Given the description of an element on the screen output the (x, y) to click on. 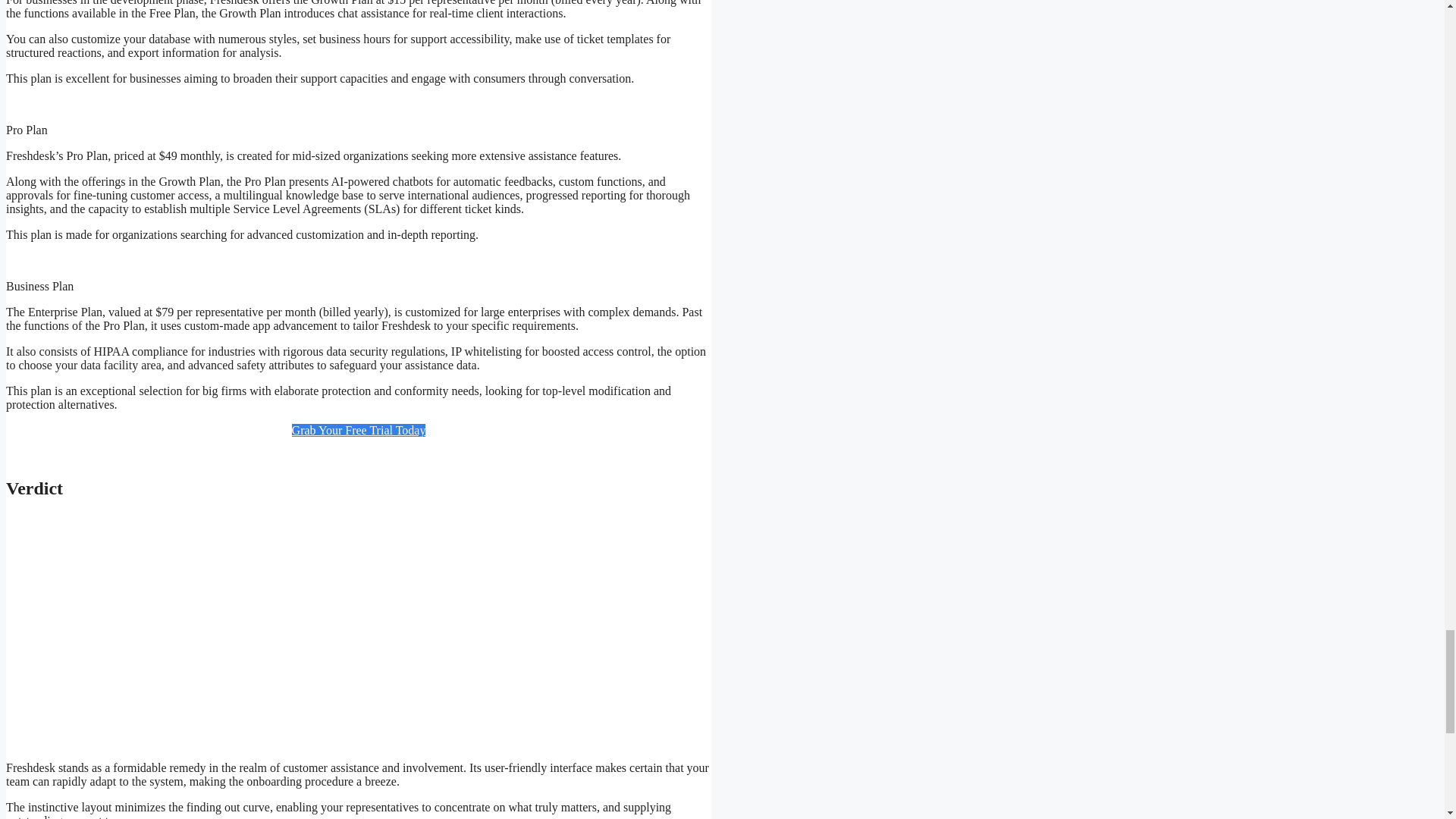
Grab Your Free Trial Today (359, 430)
